Given the description of an element on the screen output the (x, y) to click on. 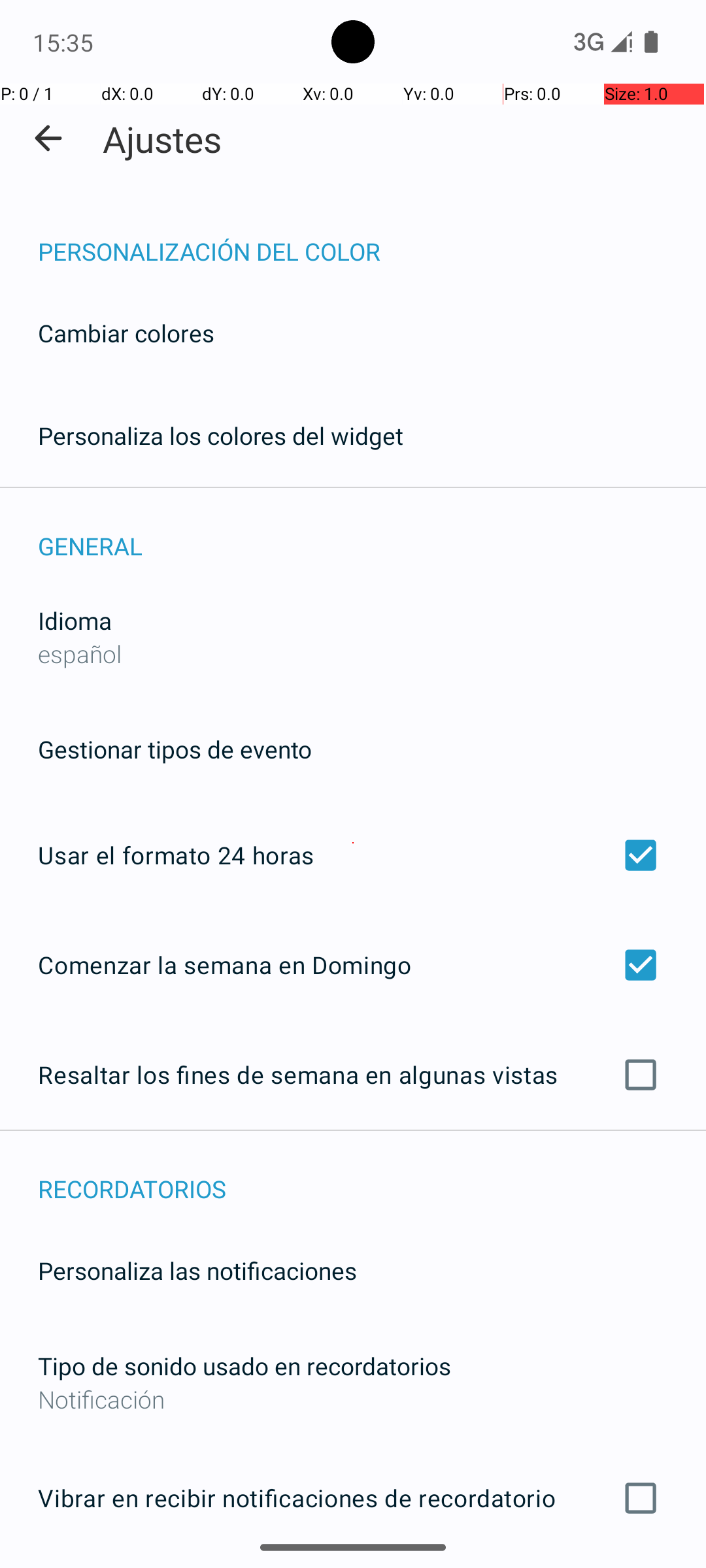
PERSONALIZACIÓN DEL COLOR Element type: android.widget.TextView (371, 237)
RECORDATORIOS Element type: android.widget.TextView (371, 1174)
Cambiar colores Element type: android.widget.TextView (125, 332)
Personaliza los colores del widget Element type: android.widget.TextView (220, 435)
Idioma Element type: android.widget.TextView (74, 620)
español Element type: android.widget.TextView (79, 653)
Gestionar tipos de evento Element type: android.widget.TextView (174, 748)
Usar el formato 24 horas Element type: android.widget.CheckBox (352, 855)
Comenzar la semana en Domingo Element type: android.widget.CheckBox (352, 964)
Resaltar los fines de semana en algunas vistas Element type: android.widget.CheckBox (352, 1074)
Personaliza las notificaciones Element type: android.widget.TextView (196, 1270)
Tipo de sonido usado en recordatorios Element type: android.widget.TextView (244, 1365)
Notificación Element type: android.widget.TextView (352, 1398)
Vibrar en recibir notificaciones de recordatorio Element type: android.widget.CheckBox (352, 1497)
Repetir recordatorios hasta ser descartados Element type: android.widget.CheckBox (352, 1567)
